Given the description of an element on the screen output the (x, y) to click on. 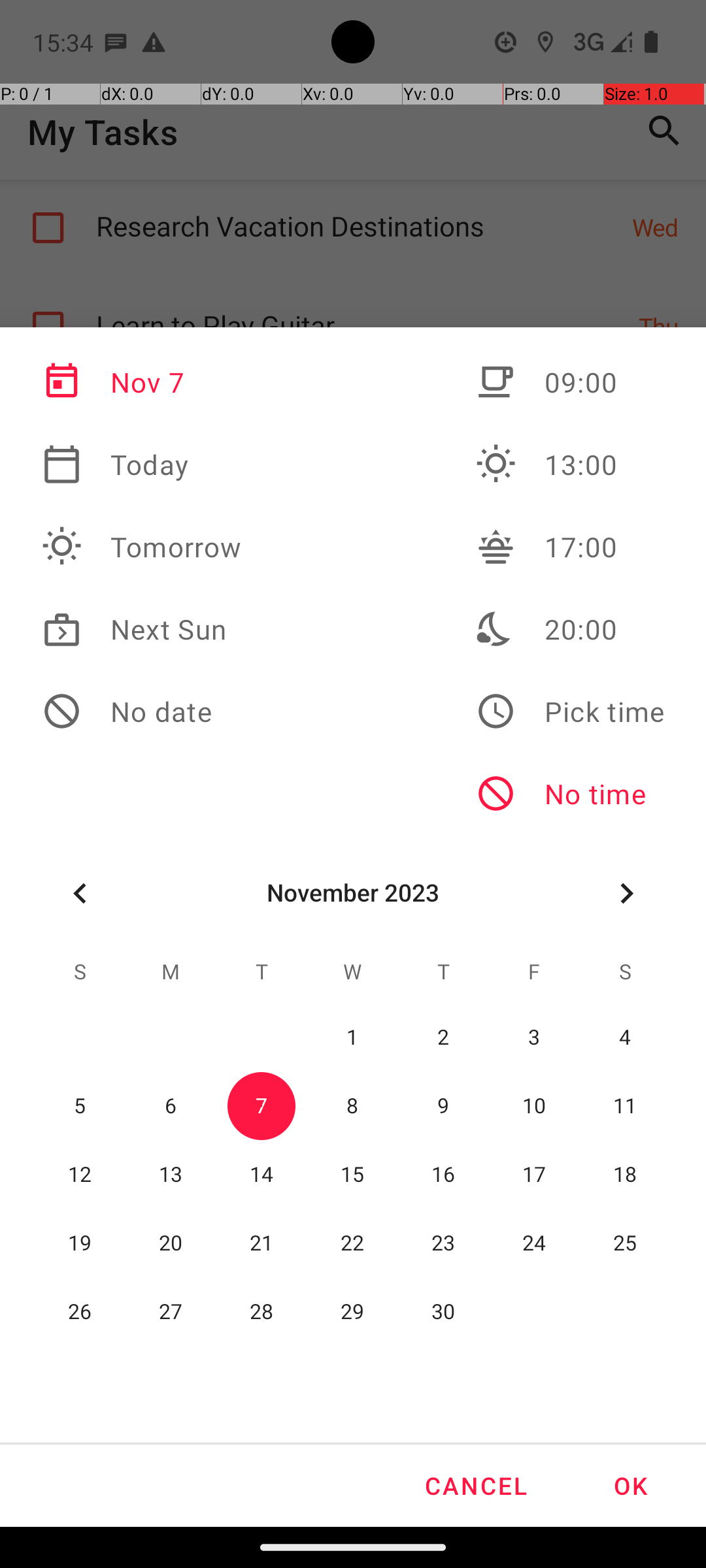
Nov 7 Element type: android.widget.CompoundButton (141, 382)
